Given the description of an element on the screen output the (x, y) to click on. 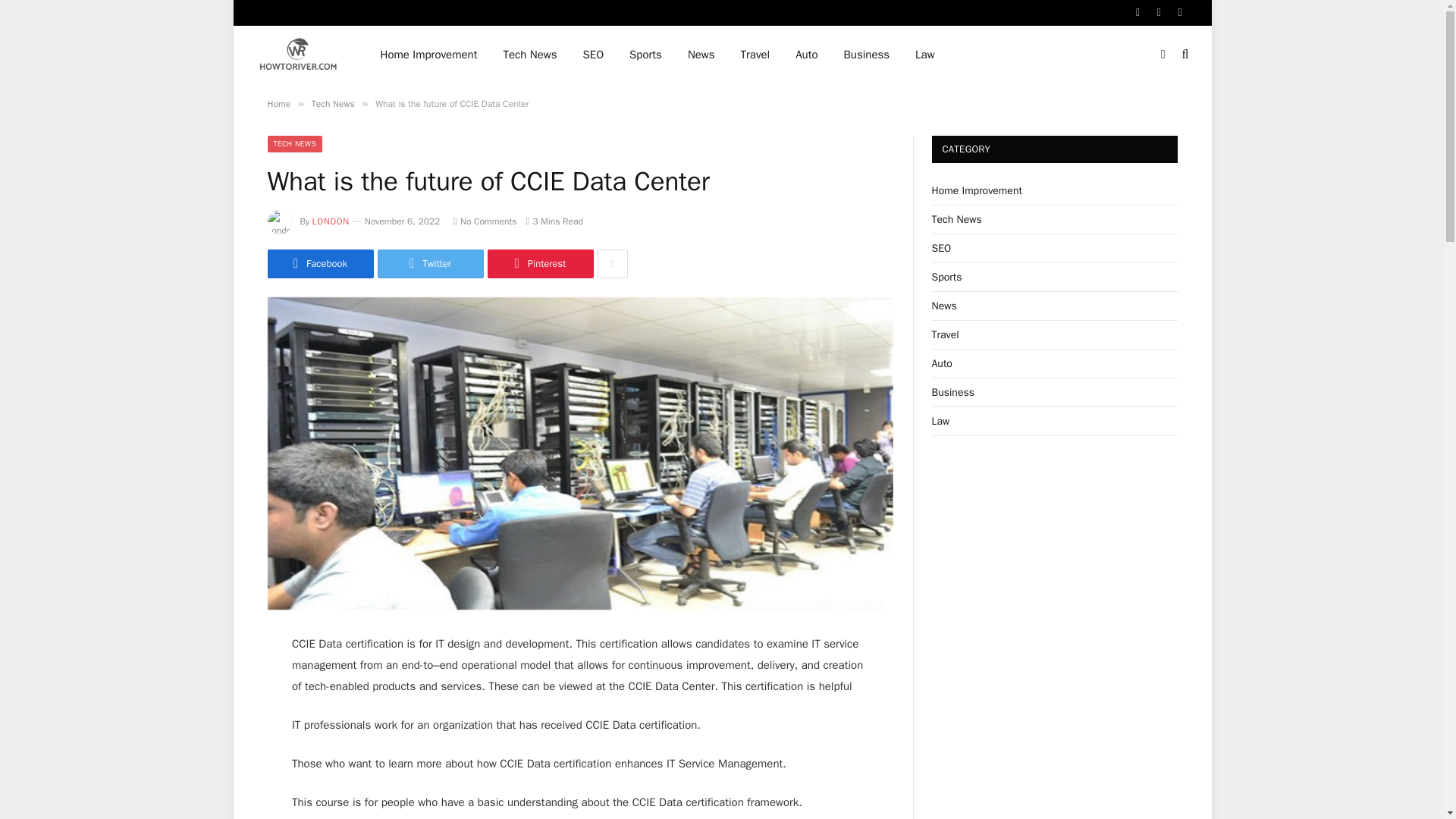
Business (866, 54)
Switch to Dark Design - easier on eyes. (1163, 54)
TECH NEWS (293, 143)
Travel (755, 54)
News (701, 54)
LONDON (331, 221)
Home (277, 103)
Home Improvement (427, 54)
Sports (645, 54)
Pinterest (539, 263)
